Given the description of an element on the screen output the (x, y) to click on. 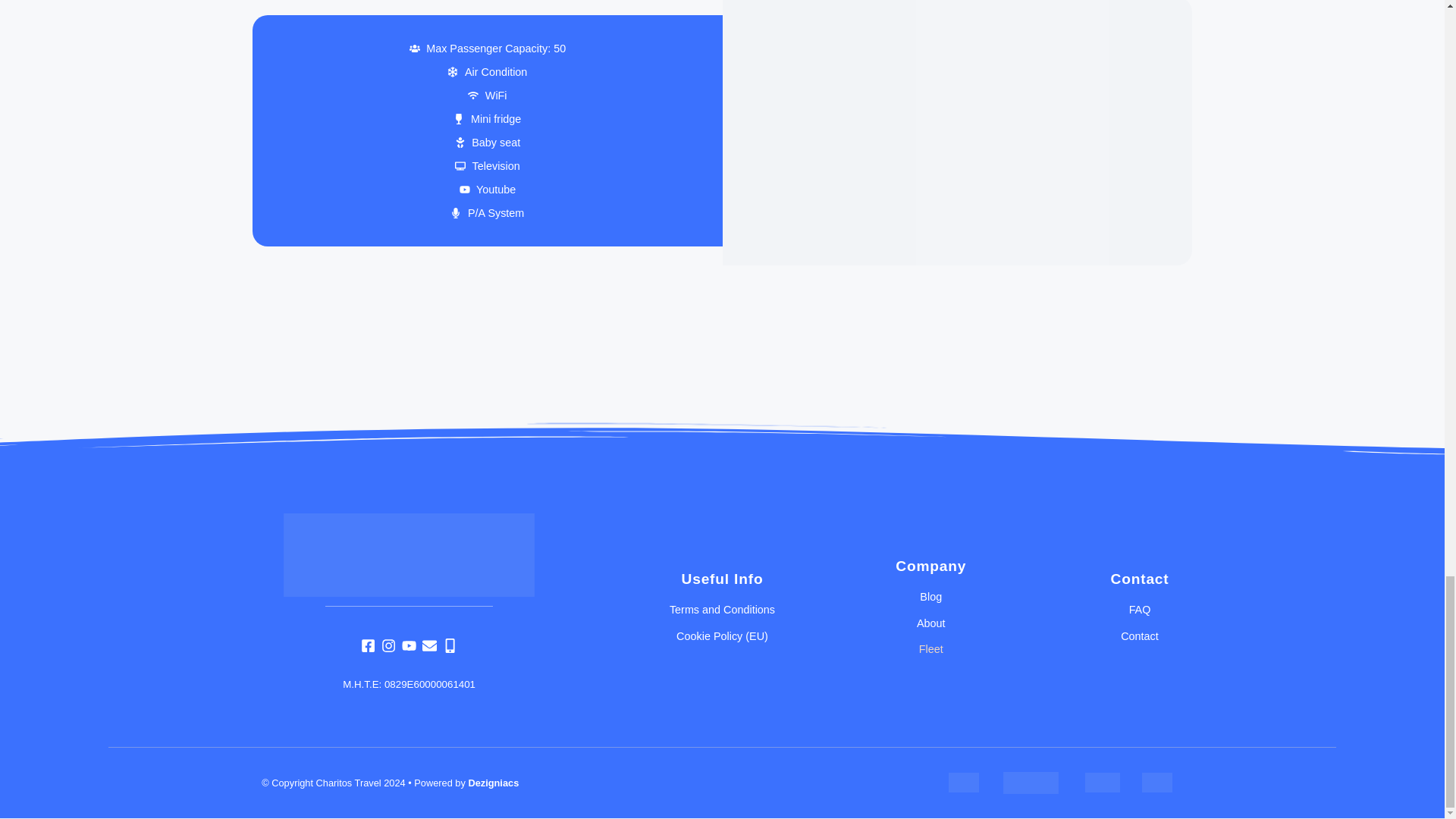
Terms and Conditions (722, 609)
Blog (931, 596)
Contact (1139, 635)
FAQ (1139, 609)
Fleet (931, 649)
About (931, 622)
